Given the description of an element on the screen output the (x, y) to click on. 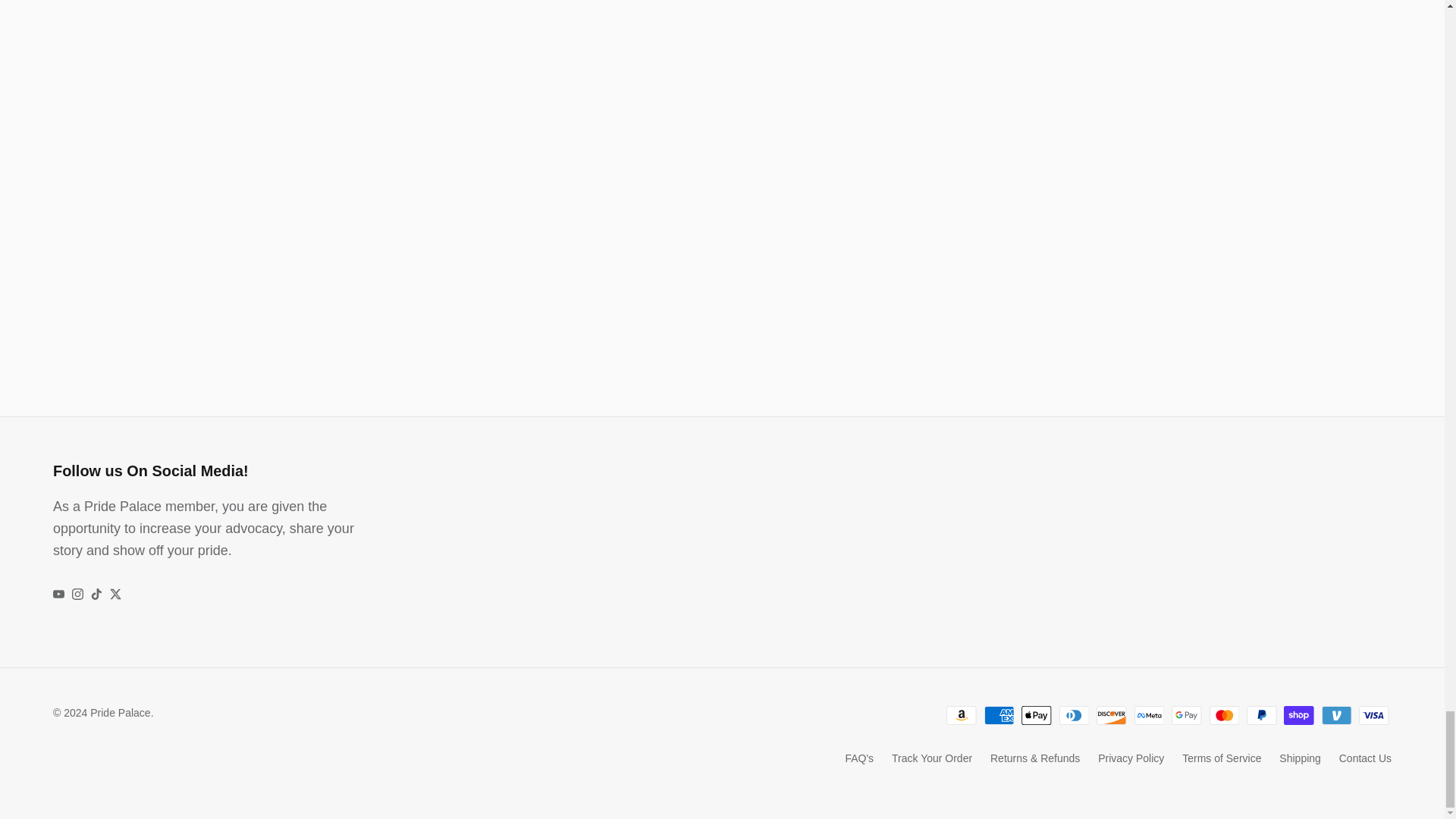
Pride Palace on Twitter (115, 593)
Pride Palace on YouTube (58, 593)
Pride Palace on Instagram (76, 593)
PayPal (1261, 714)
Pride Palace on TikTok (95, 593)
Discover (1111, 714)
Diners Club (1074, 714)
American Express (999, 714)
Apple Pay (1036, 714)
Meta Pay (1149, 714)
